Given the description of an element on the screen output the (x, y) to click on. 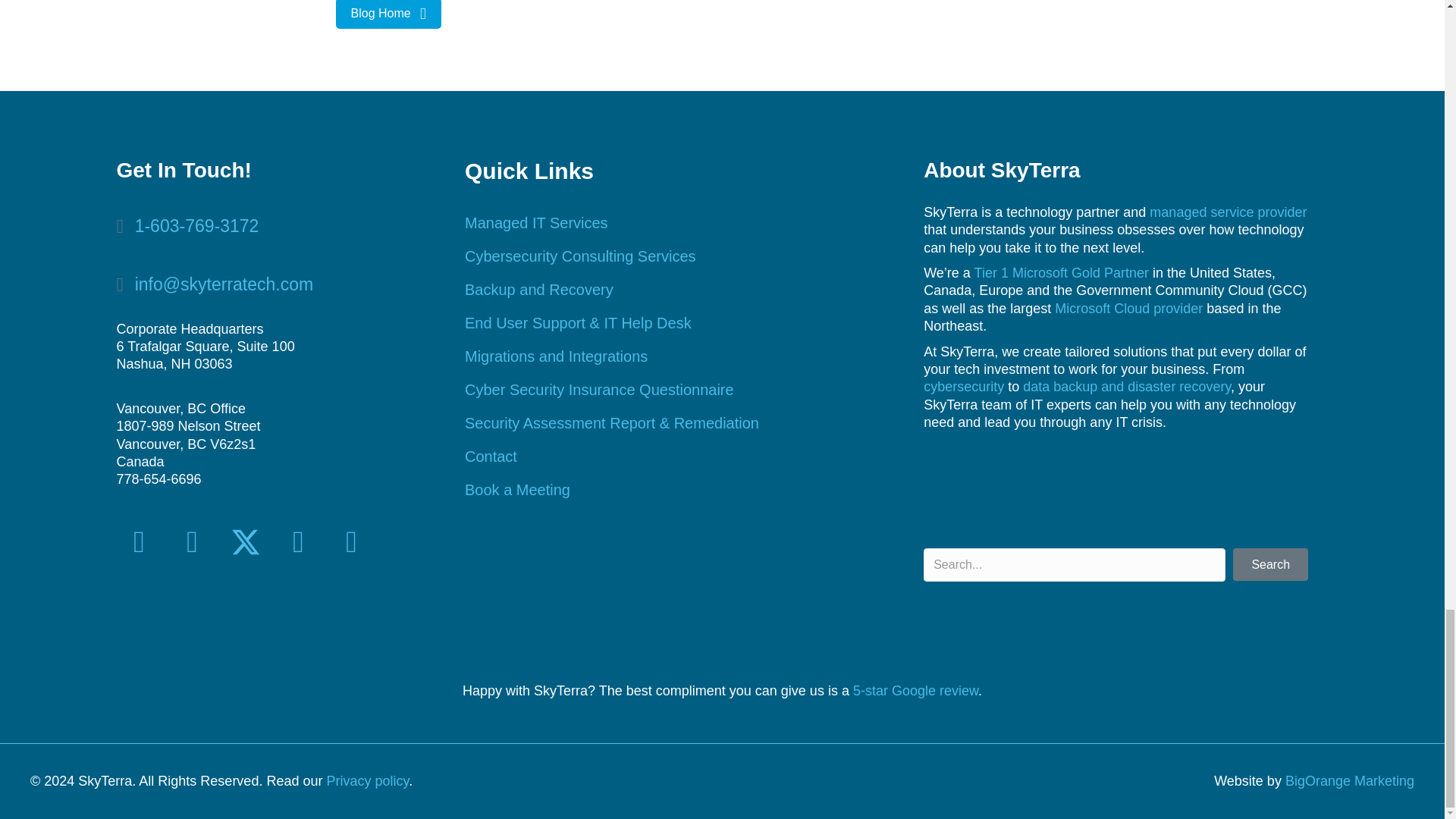
YouTube (351, 542)
Facebook (138, 542)
LinkedIn (298, 542)
Instagram (192, 542)
